Given the description of an element on the screen output the (x, y) to click on. 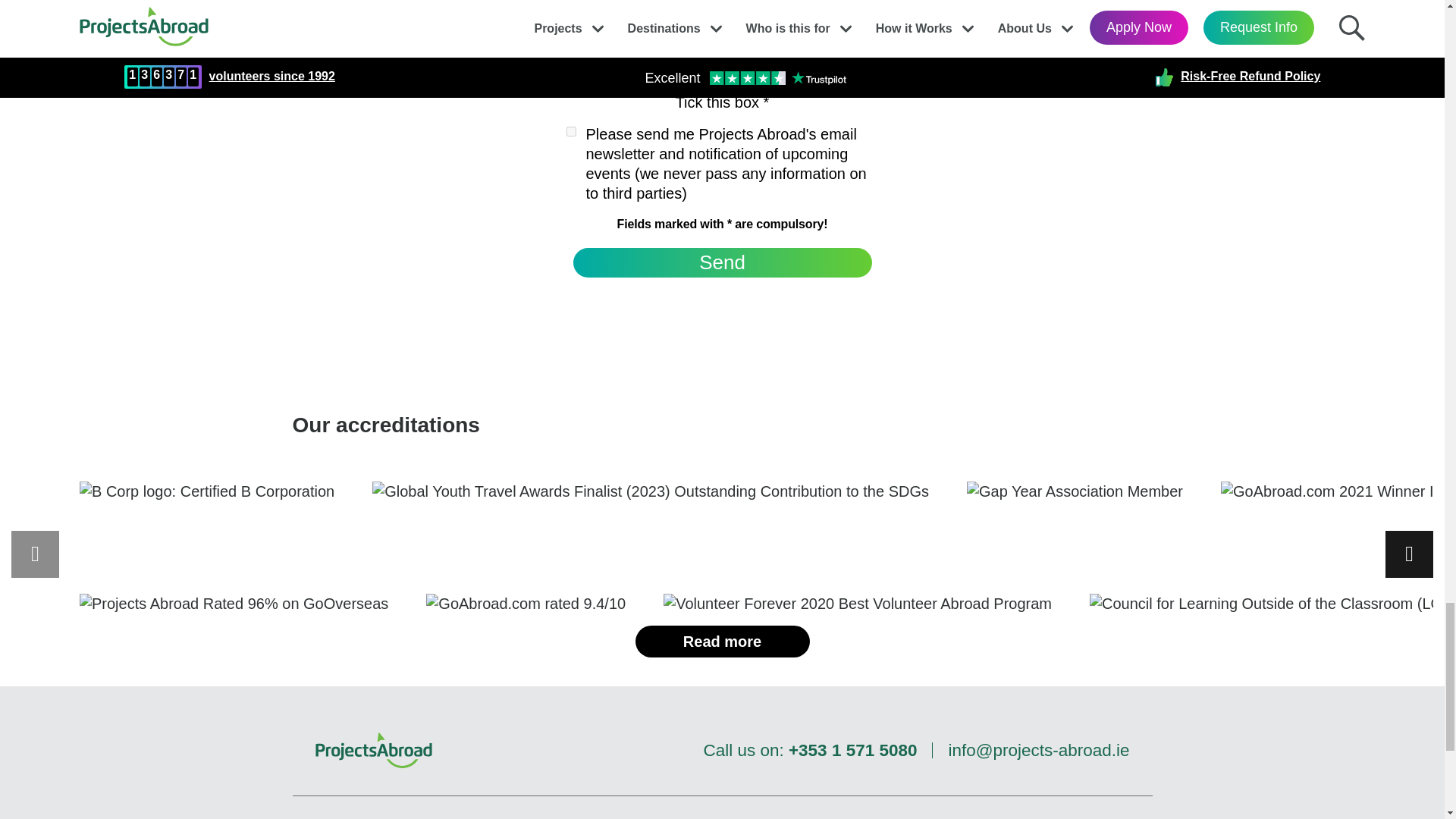
1 (570, 131)
